Given the description of an element on the screen output the (x, y) to click on. 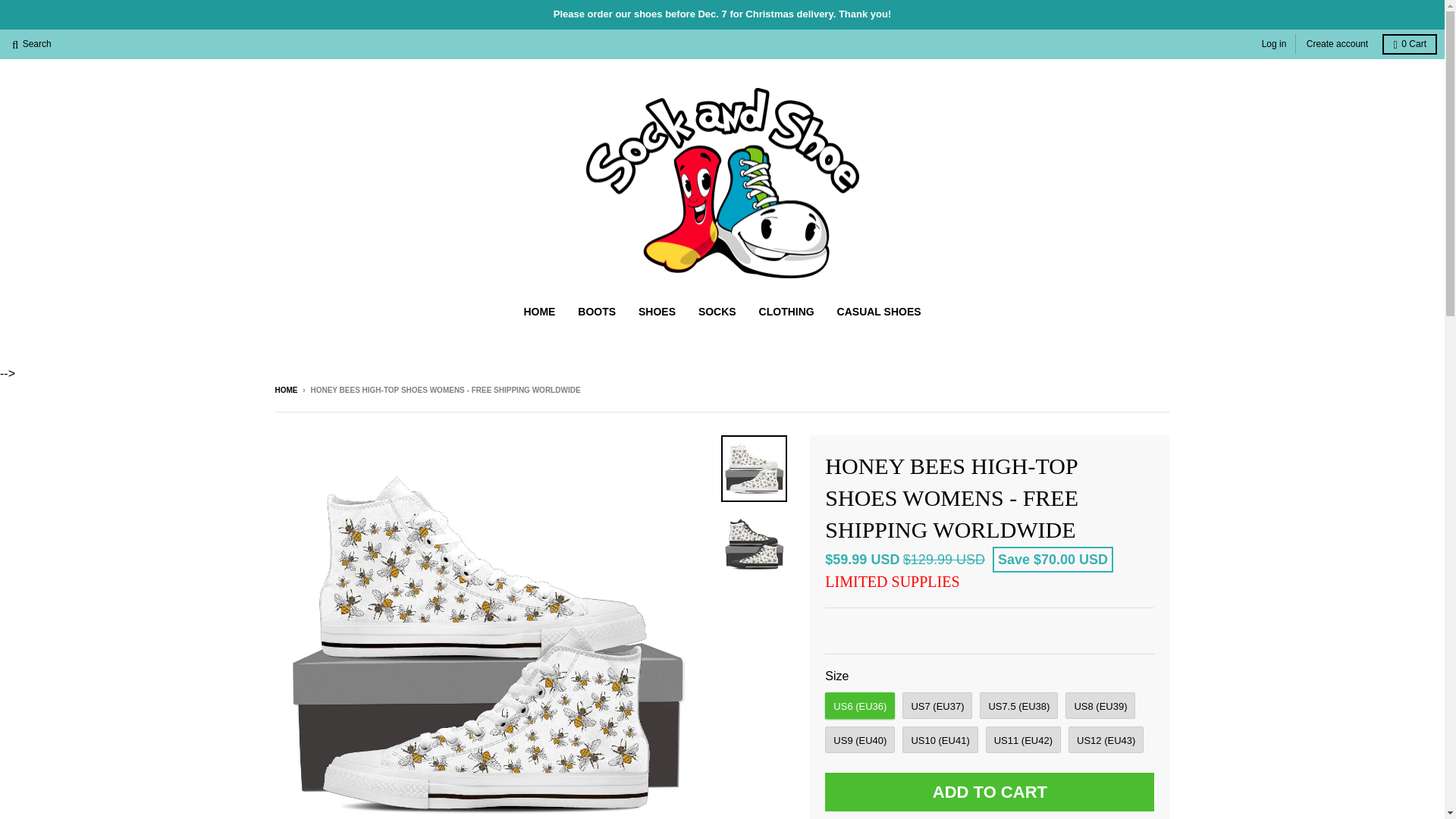
HOME (286, 389)
SHOES (656, 311)
CASUAL SHOES (879, 311)
Log in (1274, 44)
Search (31, 44)
BOOTS (596, 311)
CLOTHING (786, 311)
ADD TO CART (989, 792)
HOME (538, 311)
Create account (1337, 44)
0 Cart (1409, 44)
SOCKS (716, 311)
Back to the frontpage (286, 389)
